Given the description of an element on the screen output the (x, y) to click on. 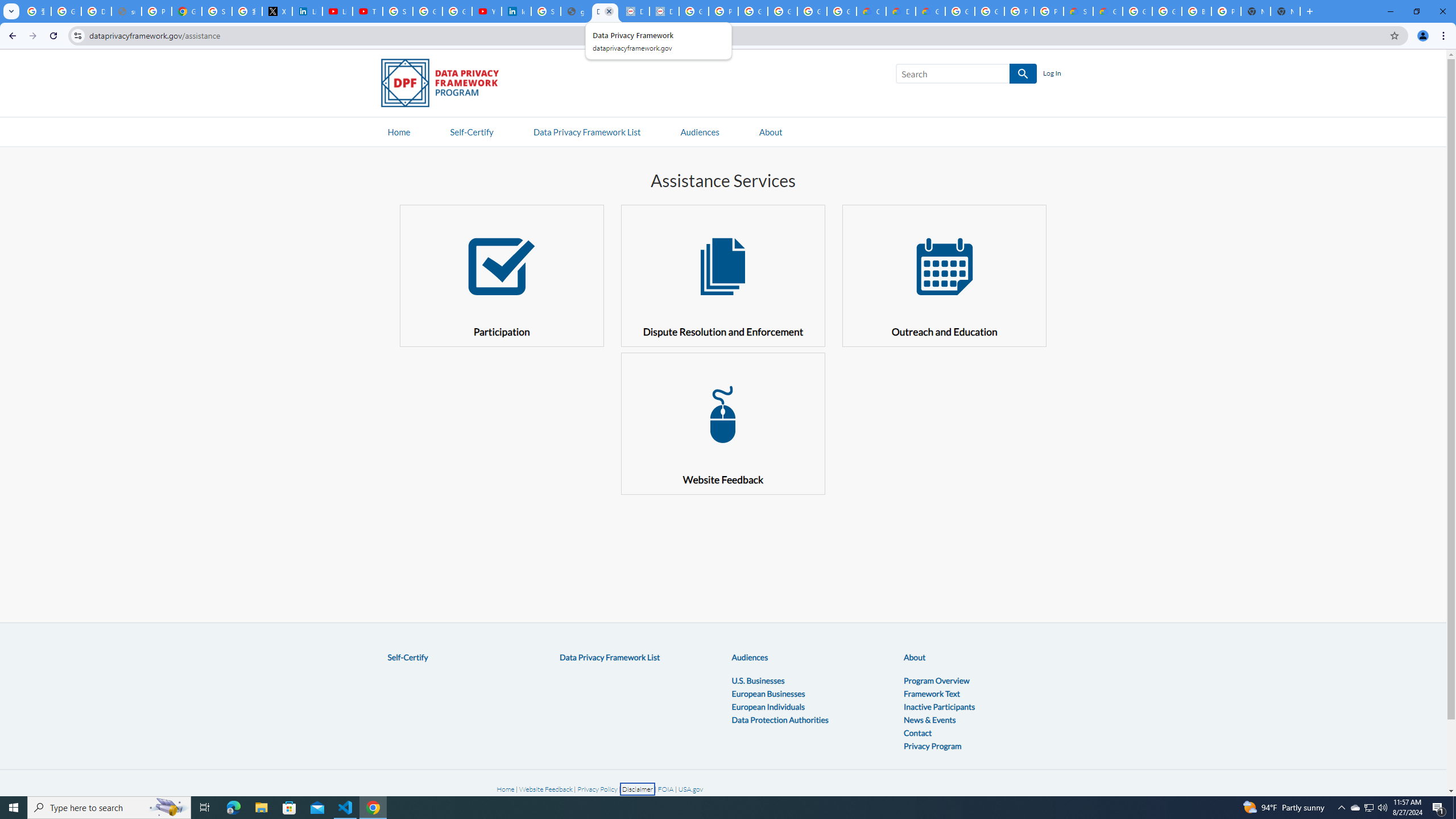
Sign in - Google Accounts (545, 11)
Data Privacy Framework List (610, 657)
Google Cloud Platform (959, 11)
U.S. Businesses (757, 679)
Privacy Program (933, 745)
Website Feedback (545, 788)
